Given the description of an element on the screen output the (x, y) to click on. 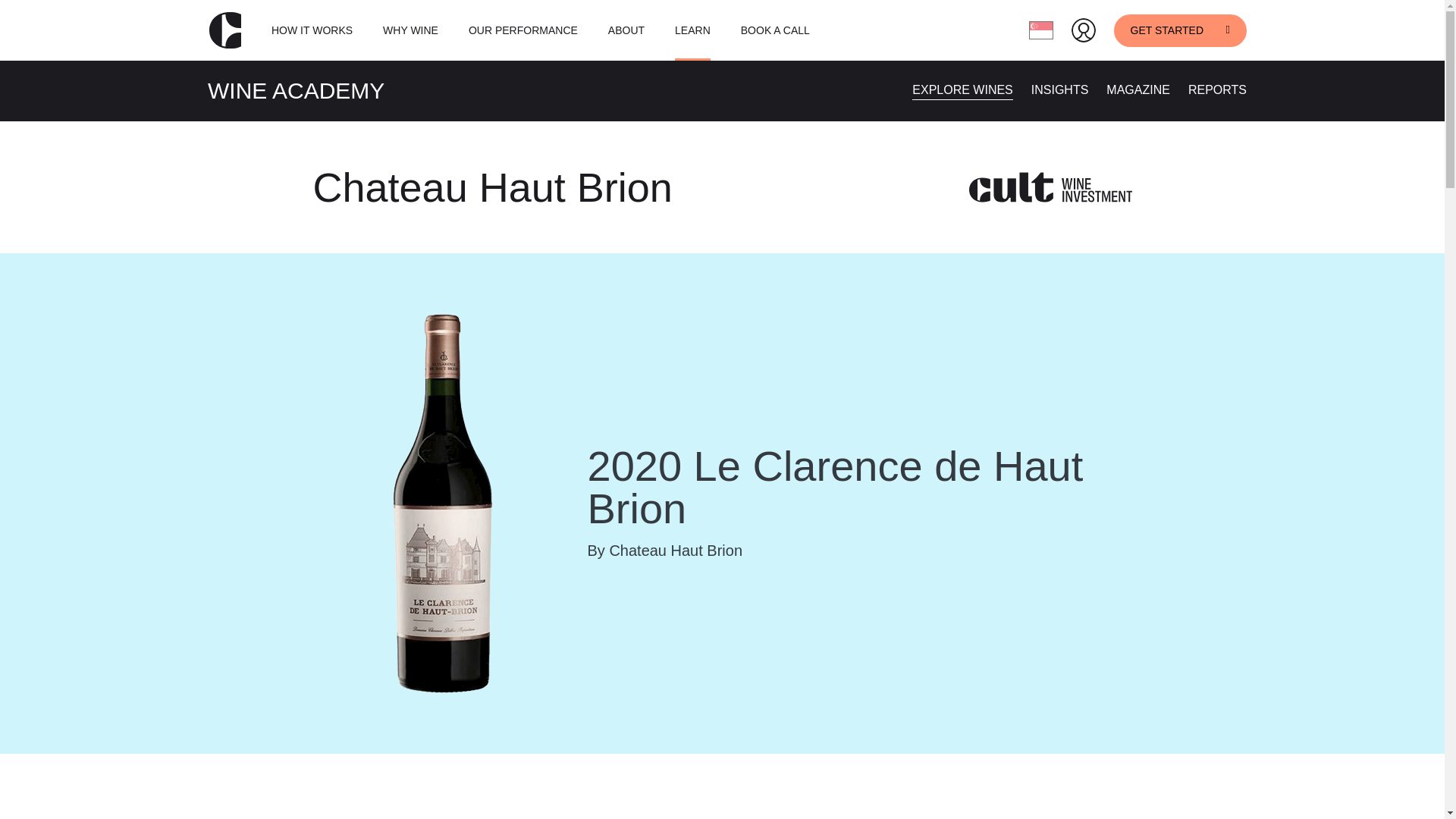
WHY WINE (410, 30)
GET STARTED (1179, 29)
MAGAZINE (1138, 90)
Chateau Haut Brion (492, 186)
INSIGHTS (1059, 90)
BOOK A CALL (775, 30)
EXPLORE WINES (961, 90)
REPORTS (1217, 90)
OUR PERFORMANCE (523, 30)
WINE ACADEMY (296, 90)
HOW IT WORKS (311, 30)
